Given the description of an element on the screen output the (x, y) to click on. 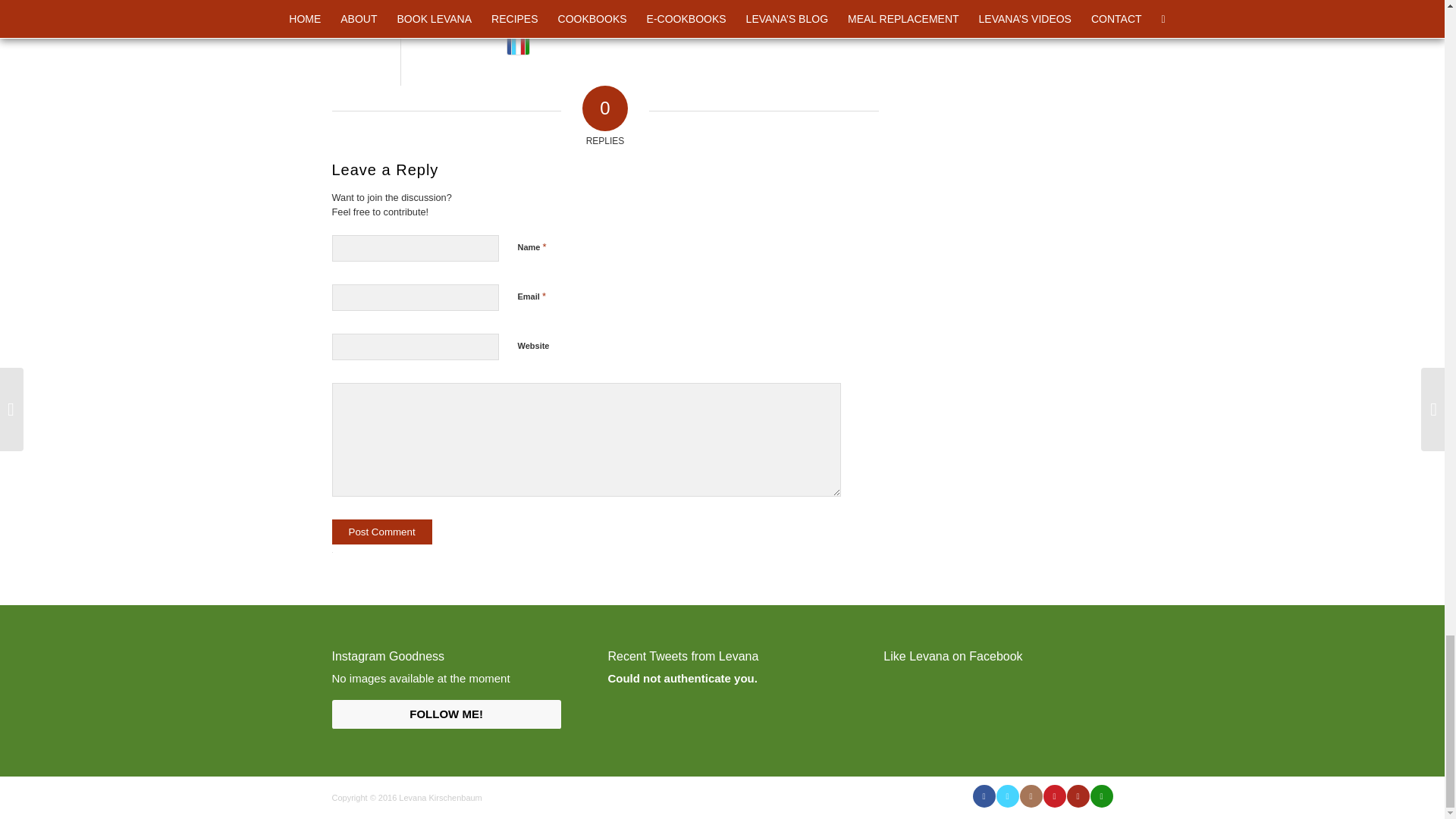
Post Comment (381, 531)
